Given the description of an element on the screen output the (x, y) to click on. 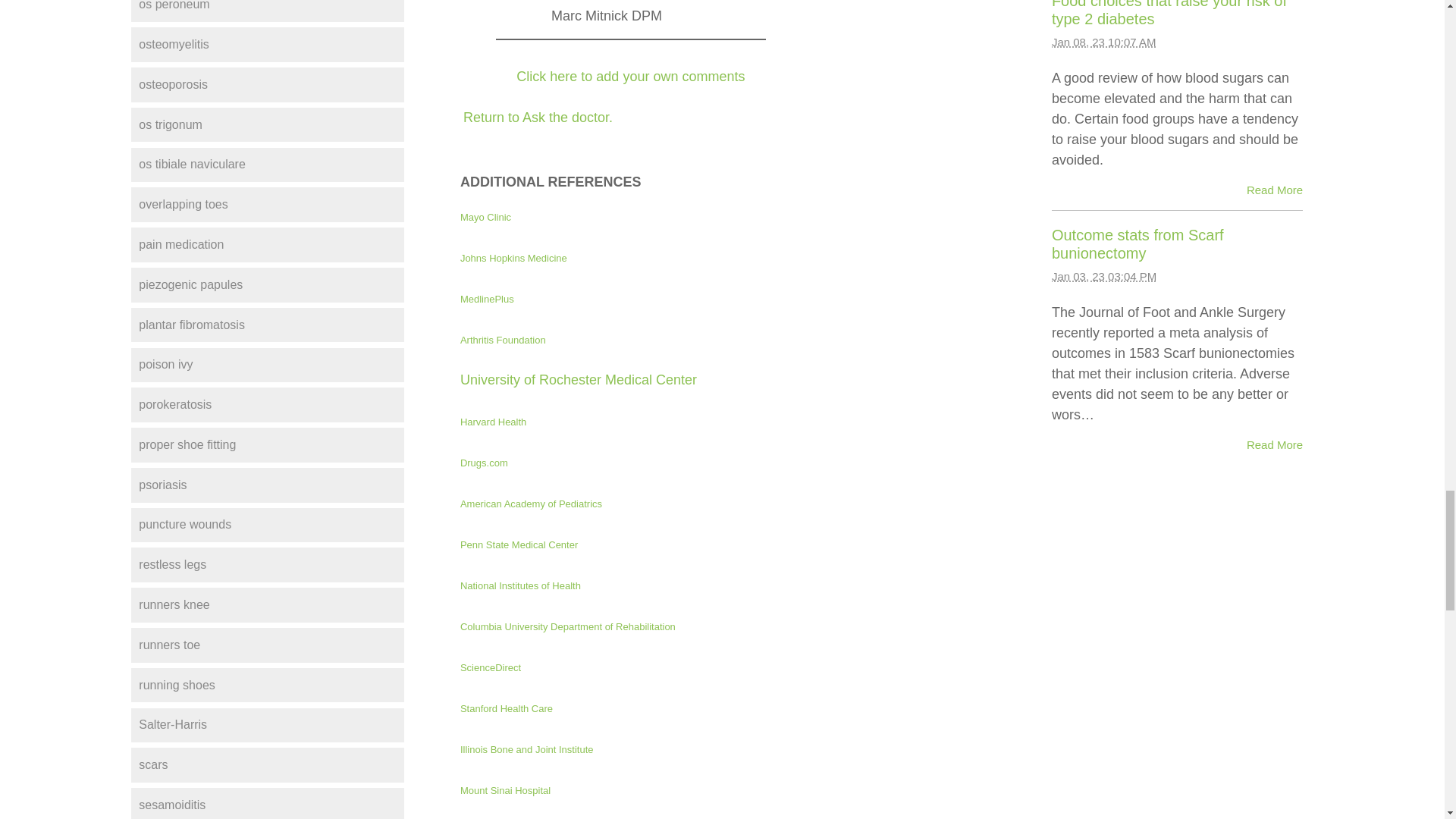
2023-01-08T10:07:31-0500 (1103, 42)
2023-01-03T15:04:31-0500 (1103, 276)
